Given the description of an element on the screen output the (x, y) to click on. 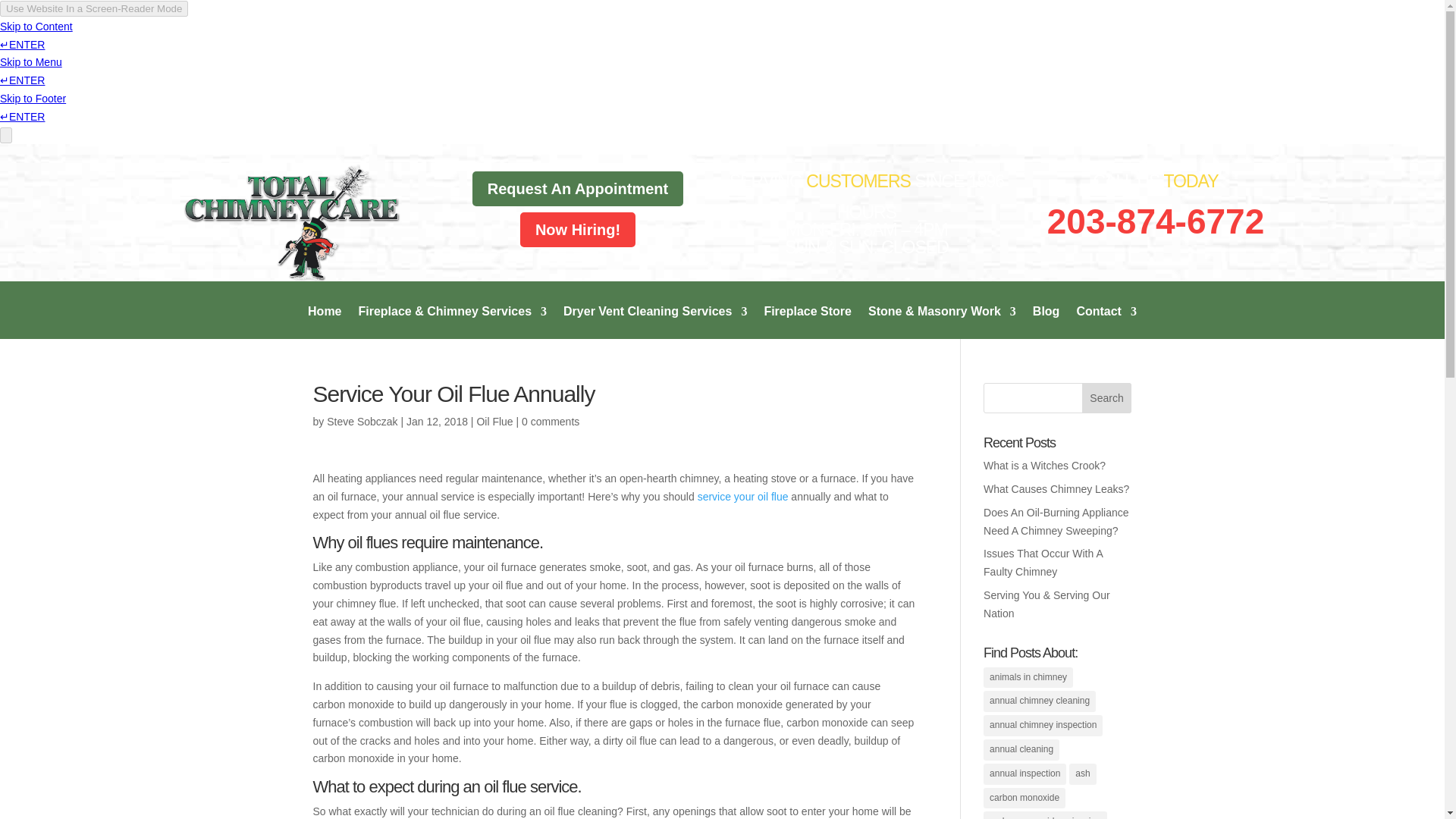
Call Us Today (1154, 220)
Home (323, 322)
Request An Appointment (577, 188)
Total Chimney Care - Logo (287, 222)
Dryer Vent Cleaning Services (654, 322)
203-874-6772 (1154, 220)
Now Hiring! (577, 229)
Posts by Steve Sobczak (361, 421)
Fireplace Store (806, 322)
Search (1106, 398)
Contact (1106, 322)
